Given the description of an element on the screen output the (x, y) to click on. 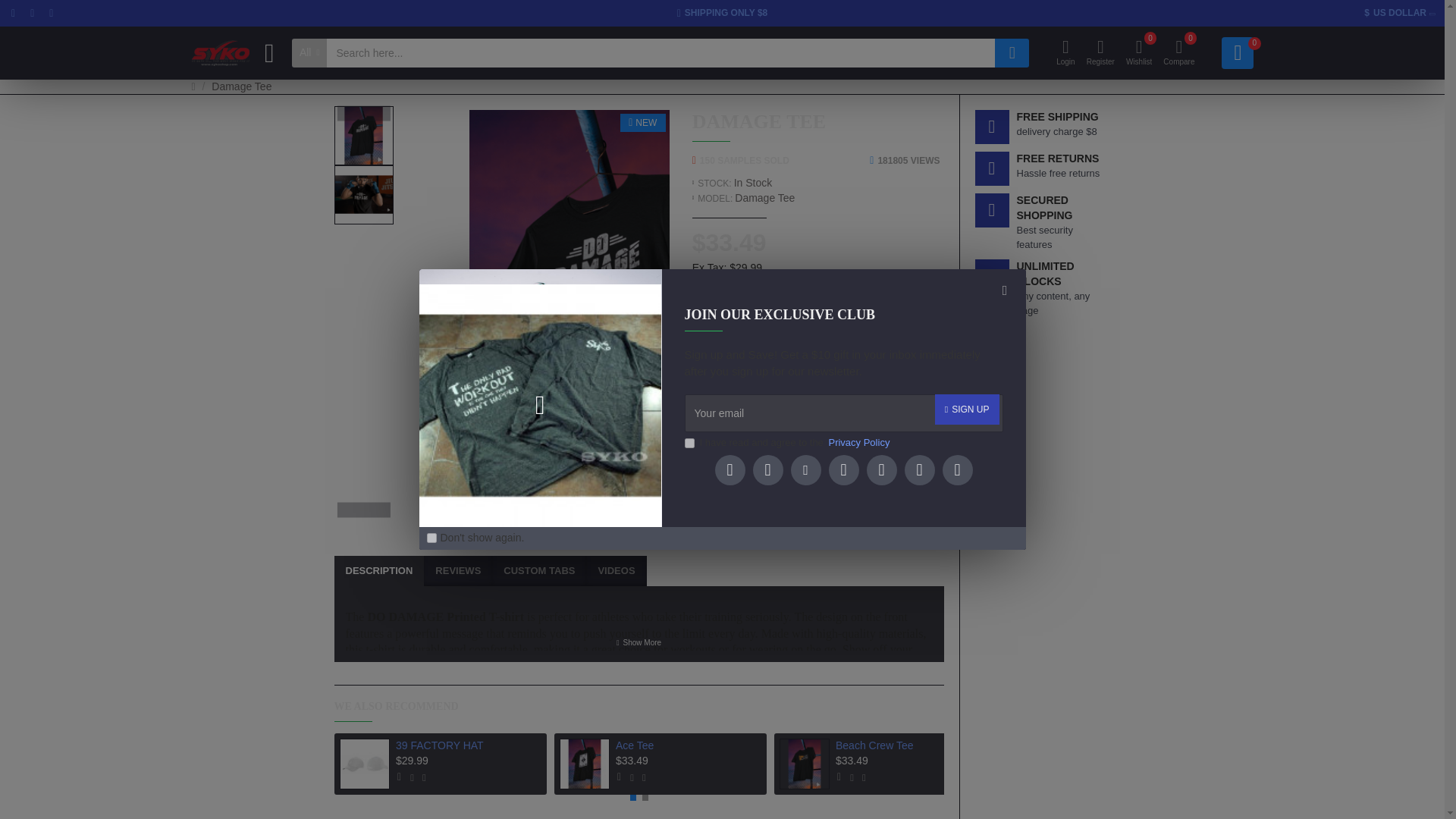
Hacked By Death Brain (219, 53)
1 (714, 489)
Damage Tee (363, 194)
39 FACTORY HAT (364, 763)
Privacy Policy (858, 442)
1 (689, 442)
on (430, 537)
SIGN UP (966, 409)
Damage Tee (363, 135)
Ace Tee (584, 763)
